Given the description of an element on the screen output the (x, y) to click on. 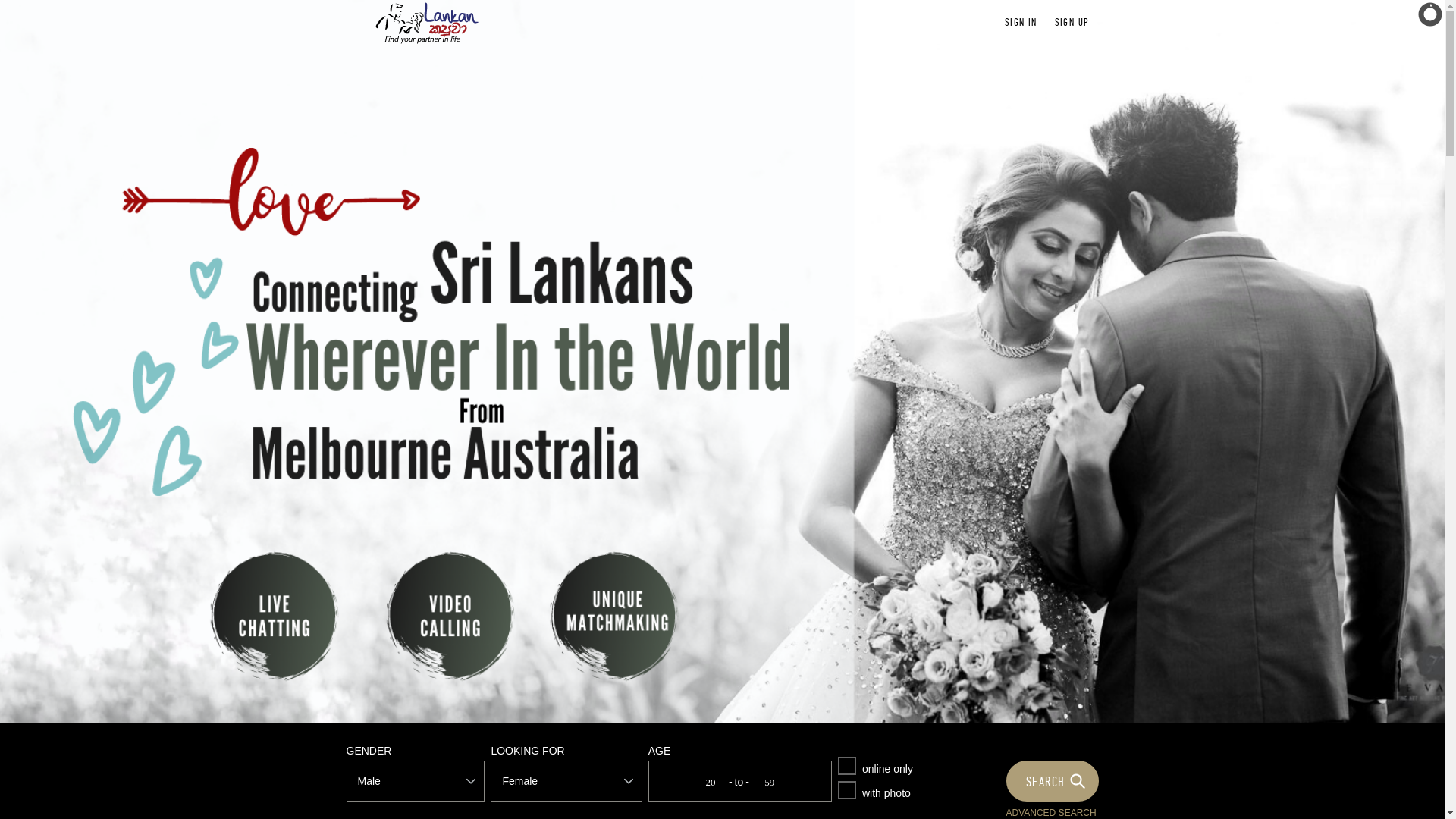
Search Element type: text (1053, 781)
SIGN UP Element type: text (1071, 21)
ADVANCED SEARCH Element type: text (1050, 812)
